Given the description of an element on the screen output the (x, y) to click on. 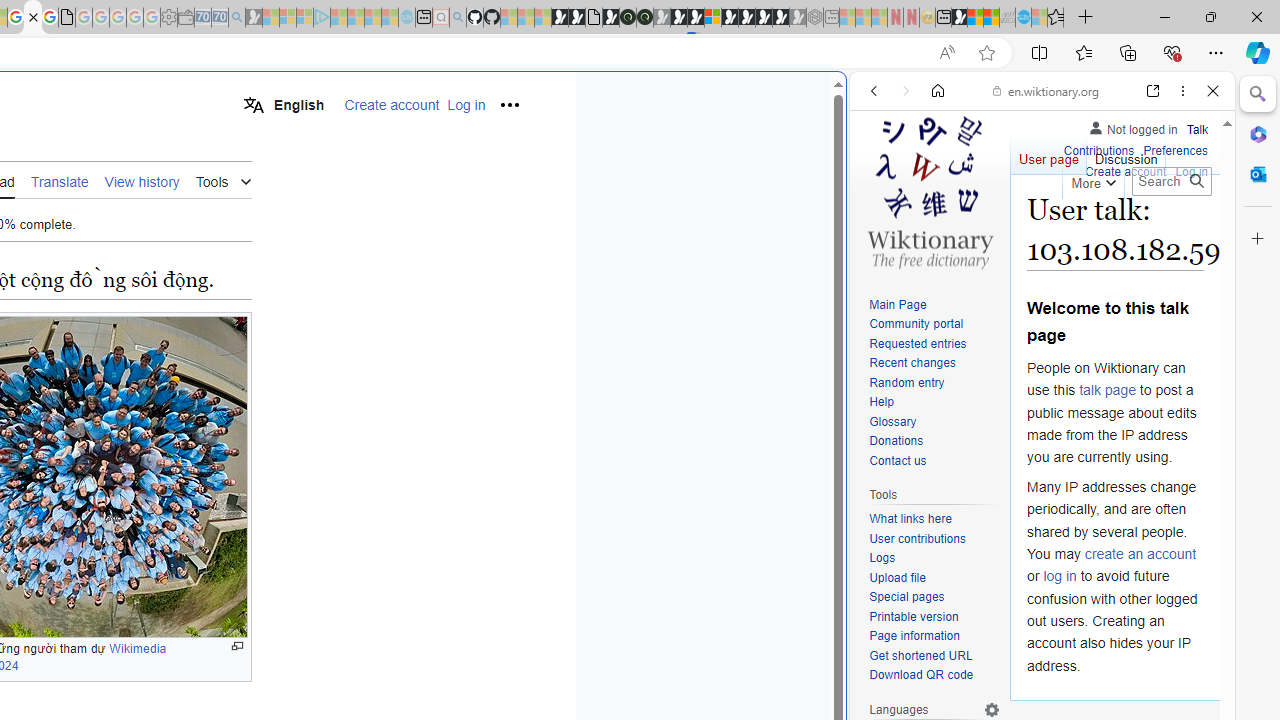
Earth has six continents not seven, radical new study claims (991, 17)
Create account (1125, 169)
What links here (934, 519)
More (1092, 179)
Talk (1197, 129)
Personal tools (508, 104)
